Given the description of an element on the screen output the (x, y) to click on. 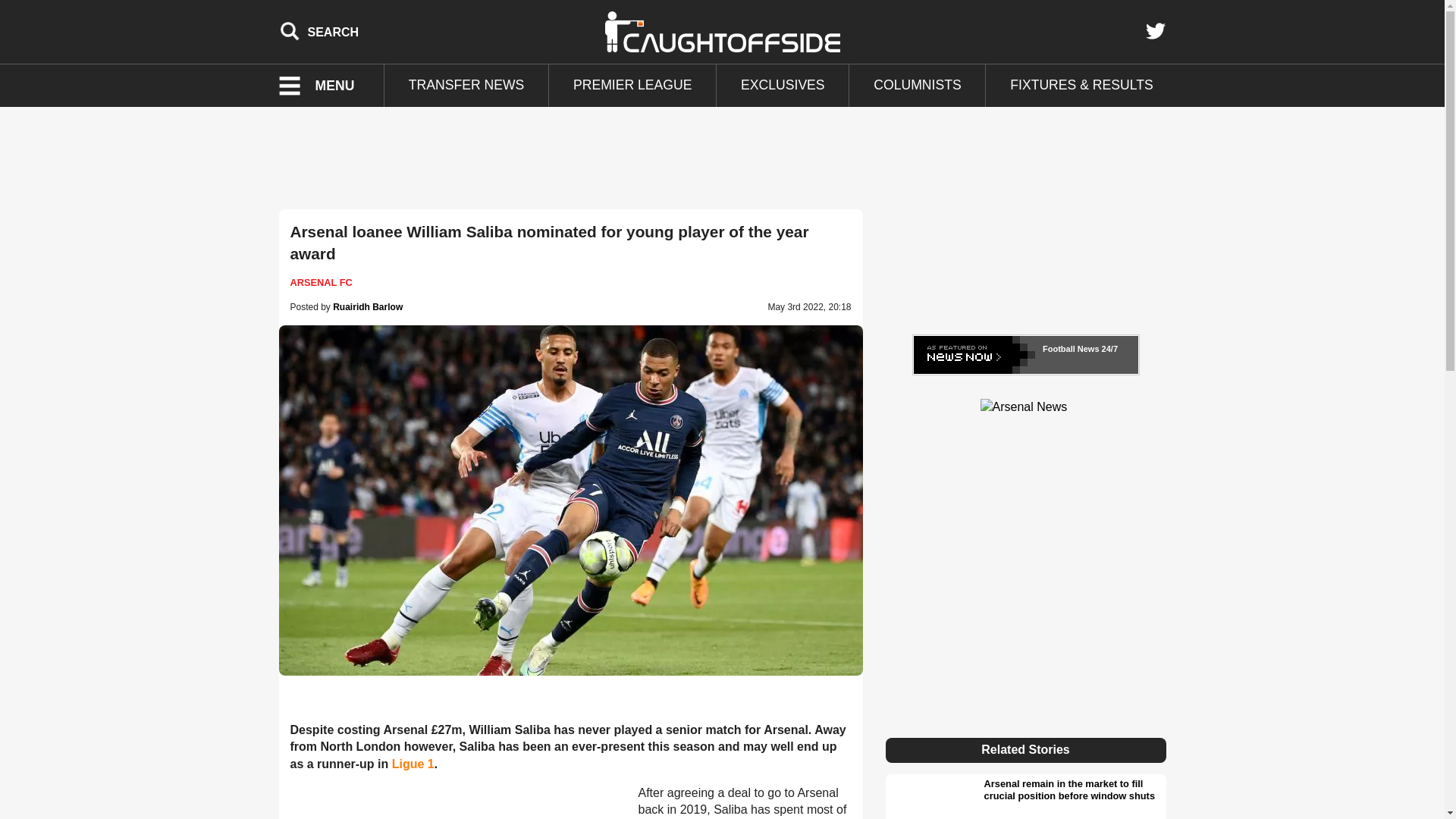
TRANSFER NEWS (466, 85)
Twitter (1155, 30)
EXCLUSIVES (782, 85)
PREMIER LEAGUE (632, 85)
Menu (325, 85)
Search (319, 30)
